Given the description of an element on the screen output the (x, y) to click on. 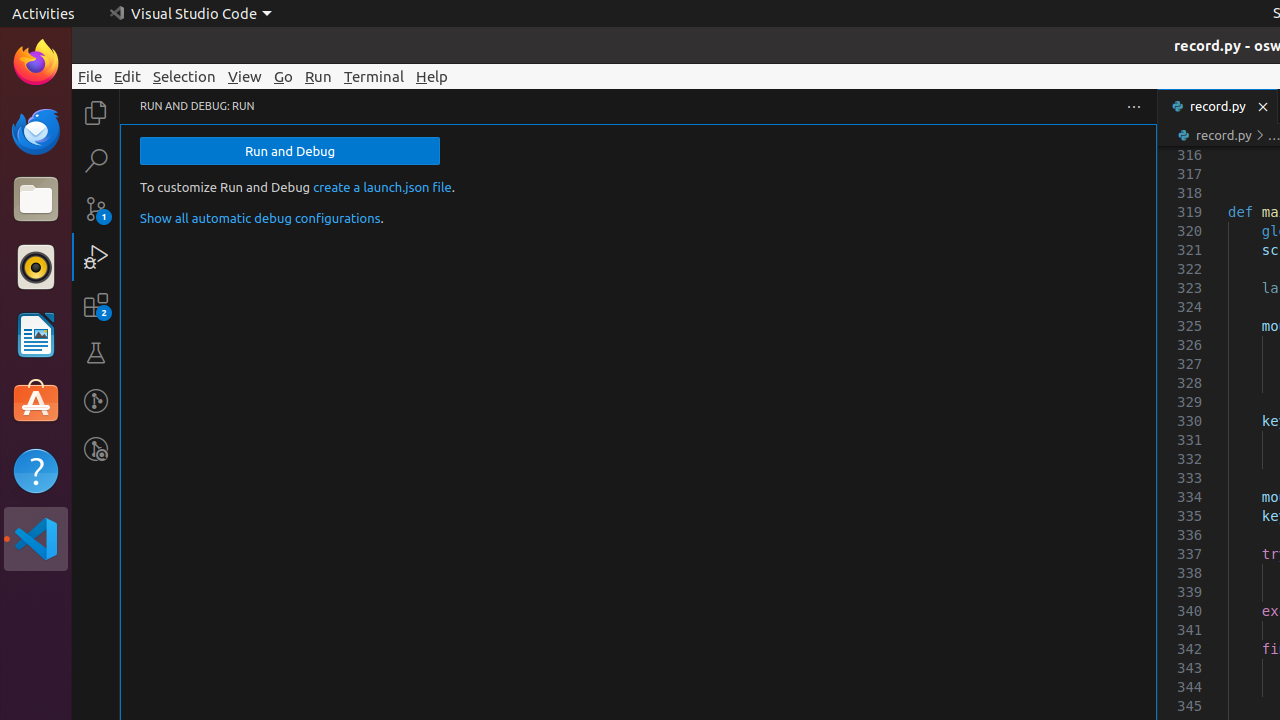
create a launch.json file Element type: push-button (382, 187)
